Given the description of an element on the screen output the (x, y) to click on. 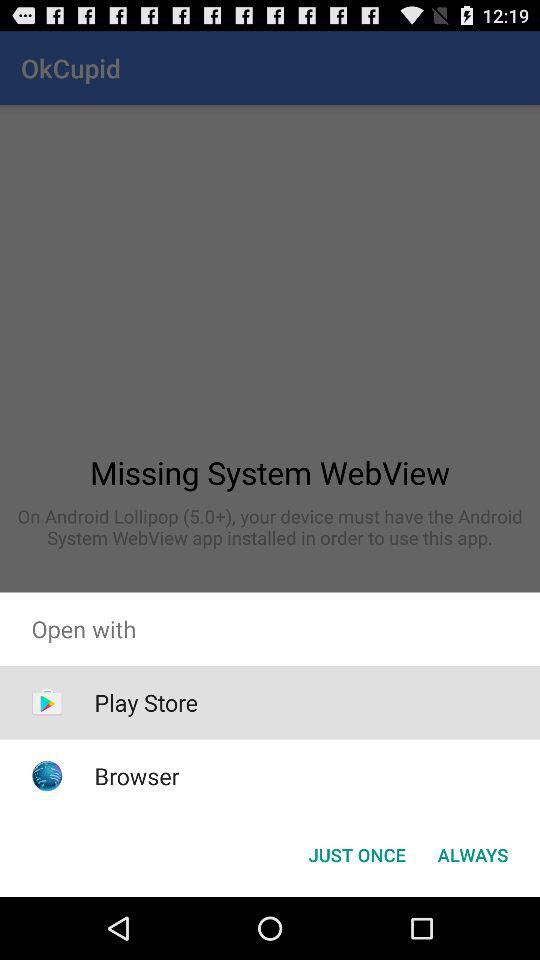
open app above browser (146, 702)
